Given the description of an element on the screen output the (x, y) to click on. 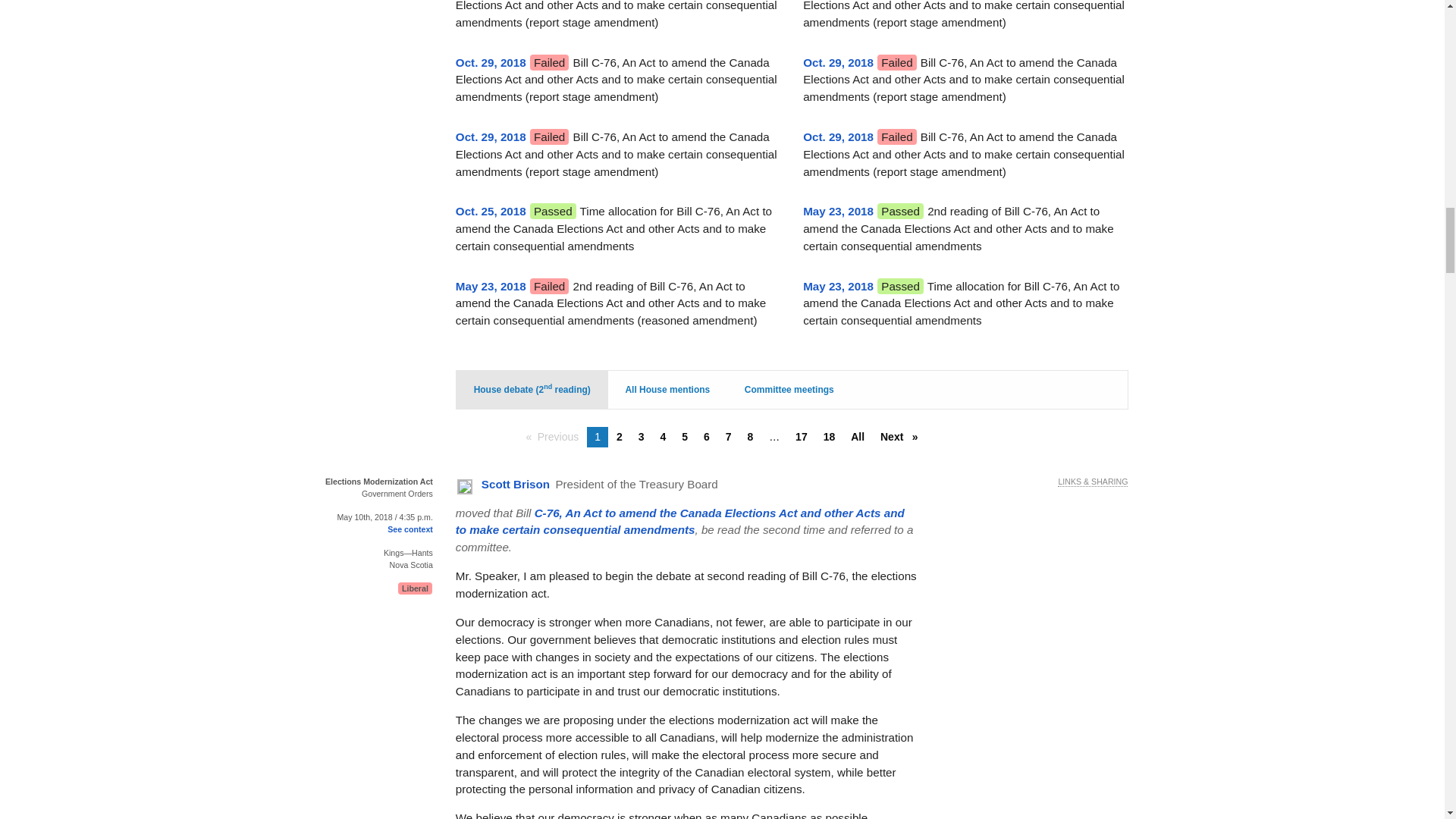
Oct. 29, 2018 (490, 62)
Oct. 29, 2018 (838, 62)
Oct. 29, 2018 (838, 136)
May 23, 2018 (838, 286)
Oct. 25, 2018 (490, 210)
Oct. 29, 2018 (490, 136)
May 23, 2018 (490, 286)
May 23, 2018 (838, 210)
